Given the description of an element on the screen output the (x, y) to click on. 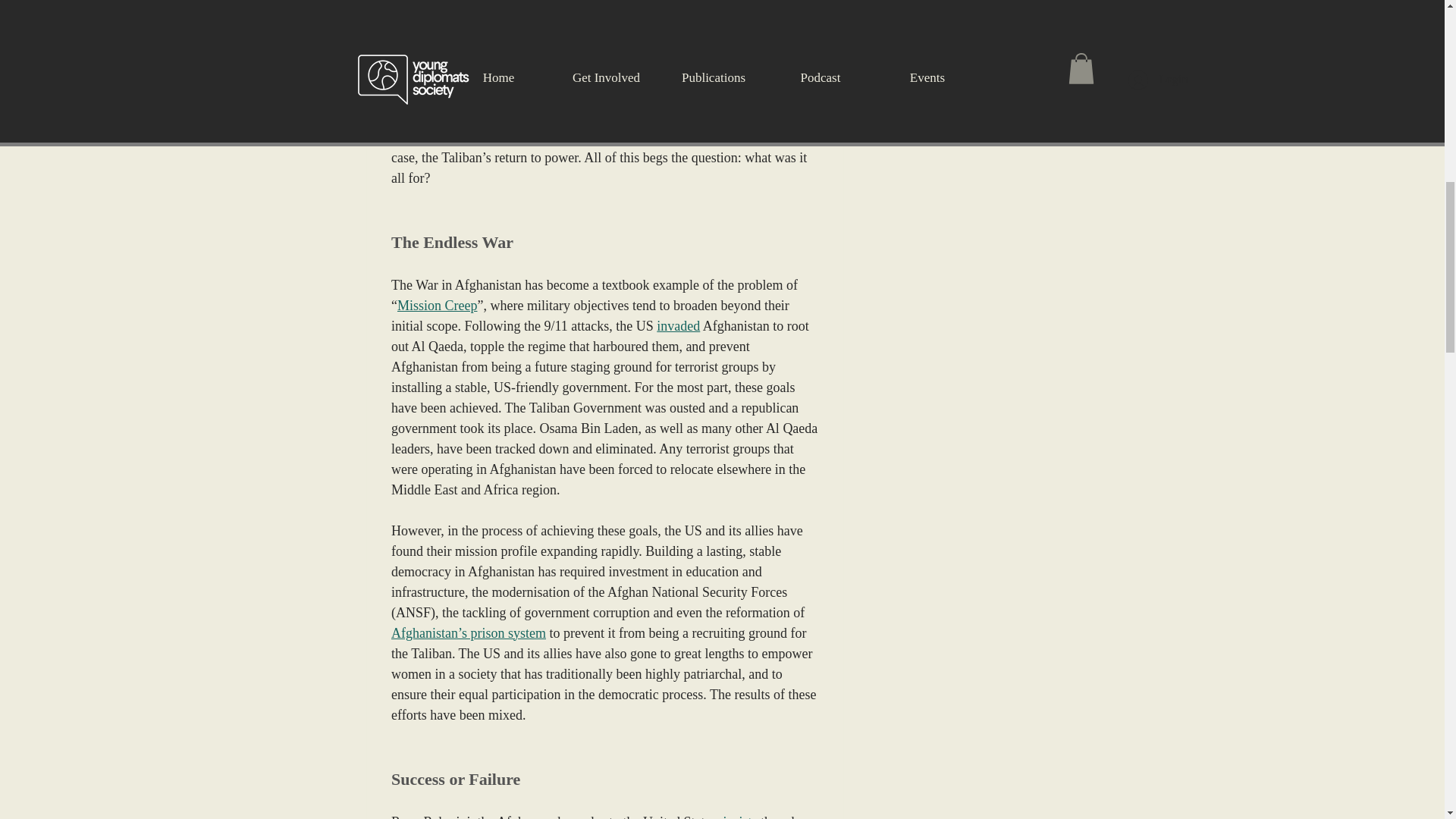
May 22 (883, 113)
5 min (923, 113)
Young Diplomats Society (919, 101)
